Given the description of an element on the screen output the (x, y) to click on. 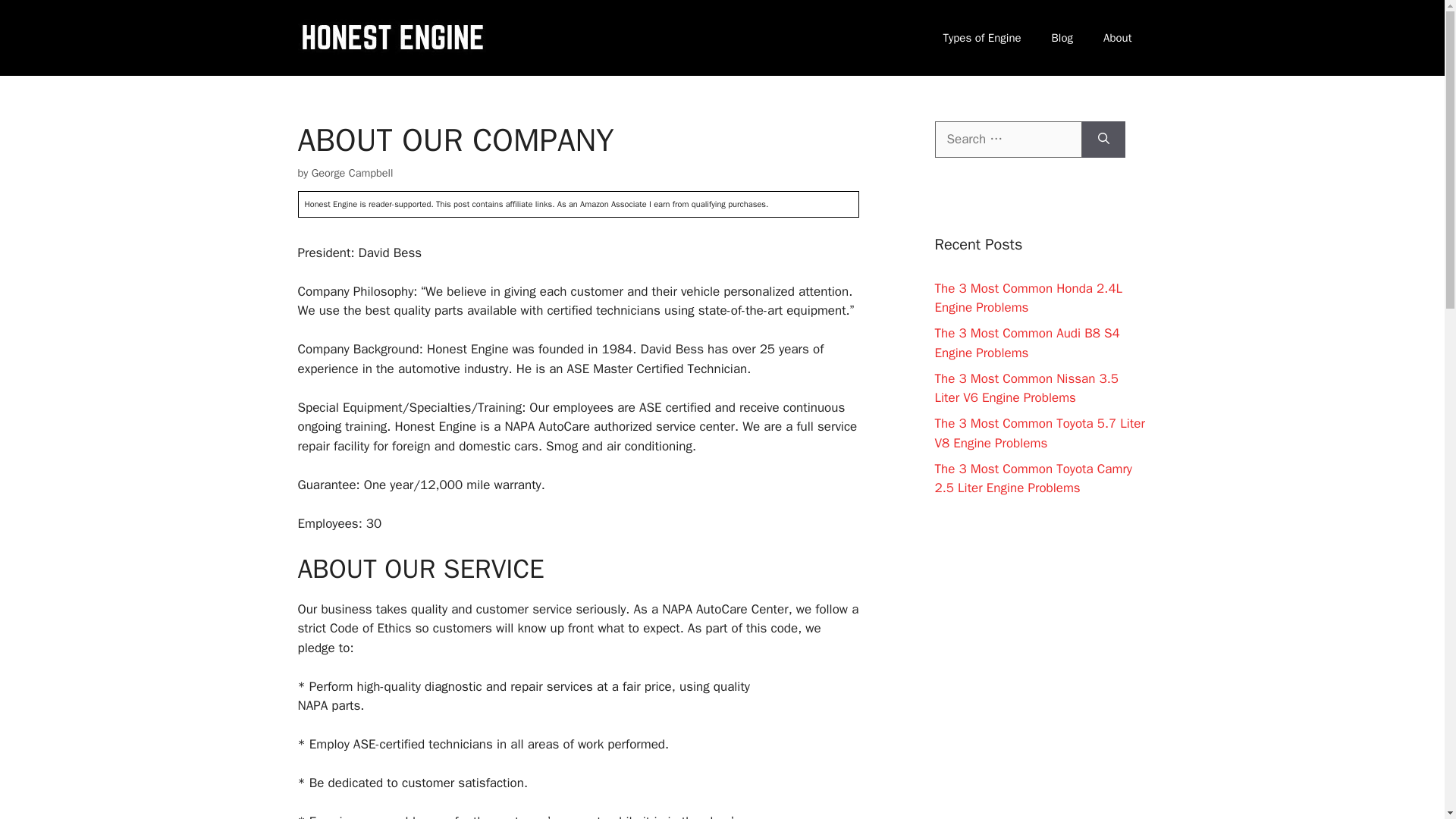
The 3 Most Common Audi B8 S4 Engine Problems (1026, 343)
Search for: (1007, 139)
HONEST ENGINE (391, 36)
The 3 Most Common Toyota Camry 2.5 Liter Engine Problems (1032, 478)
HONEST ENGINE (391, 37)
About (1117, 37)
The 3 Most Common Toyota 5.7 Liter V8 Engine Problems (1039, 433)
The 3 Most Common Nissan 3.5 Liter V6 Engine Problems (1026, 387)
Blog (1061, 37)
The 3 Most Common Honda 2.4L Engine Problems (1028, 298)
